Given the description of an element on the screen output the (x, y) to click on. 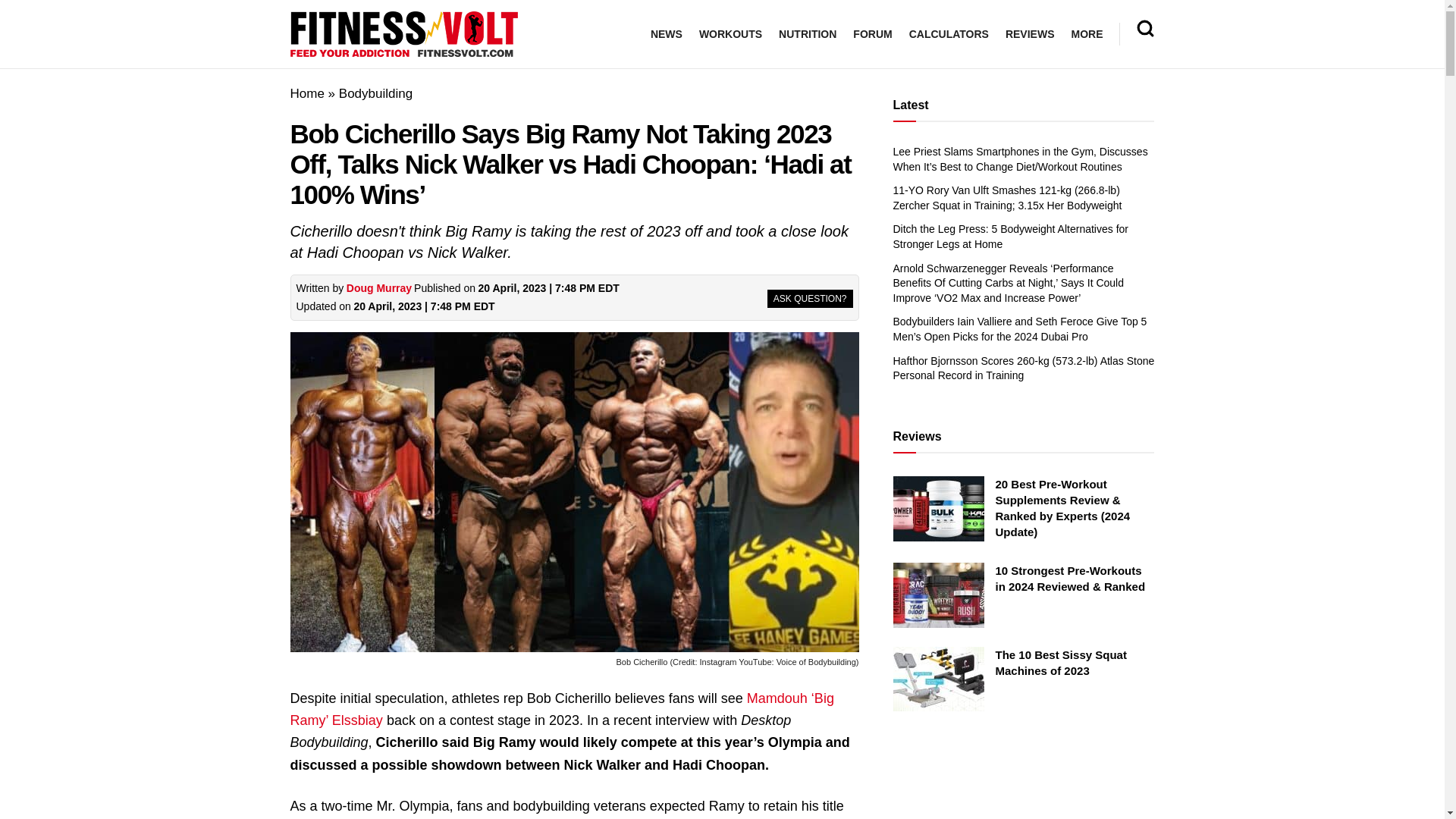
NEWS (666, 34)
NUTRITION (806, 34)
MORE (1086, 34)
WORKOUTS (729, 34)
FORUM (872, 34)
CALCULATORS (948, 34)
REVIEWS (1030, 34)
